Given the description of an element on the screen output the (x, y) to click on. 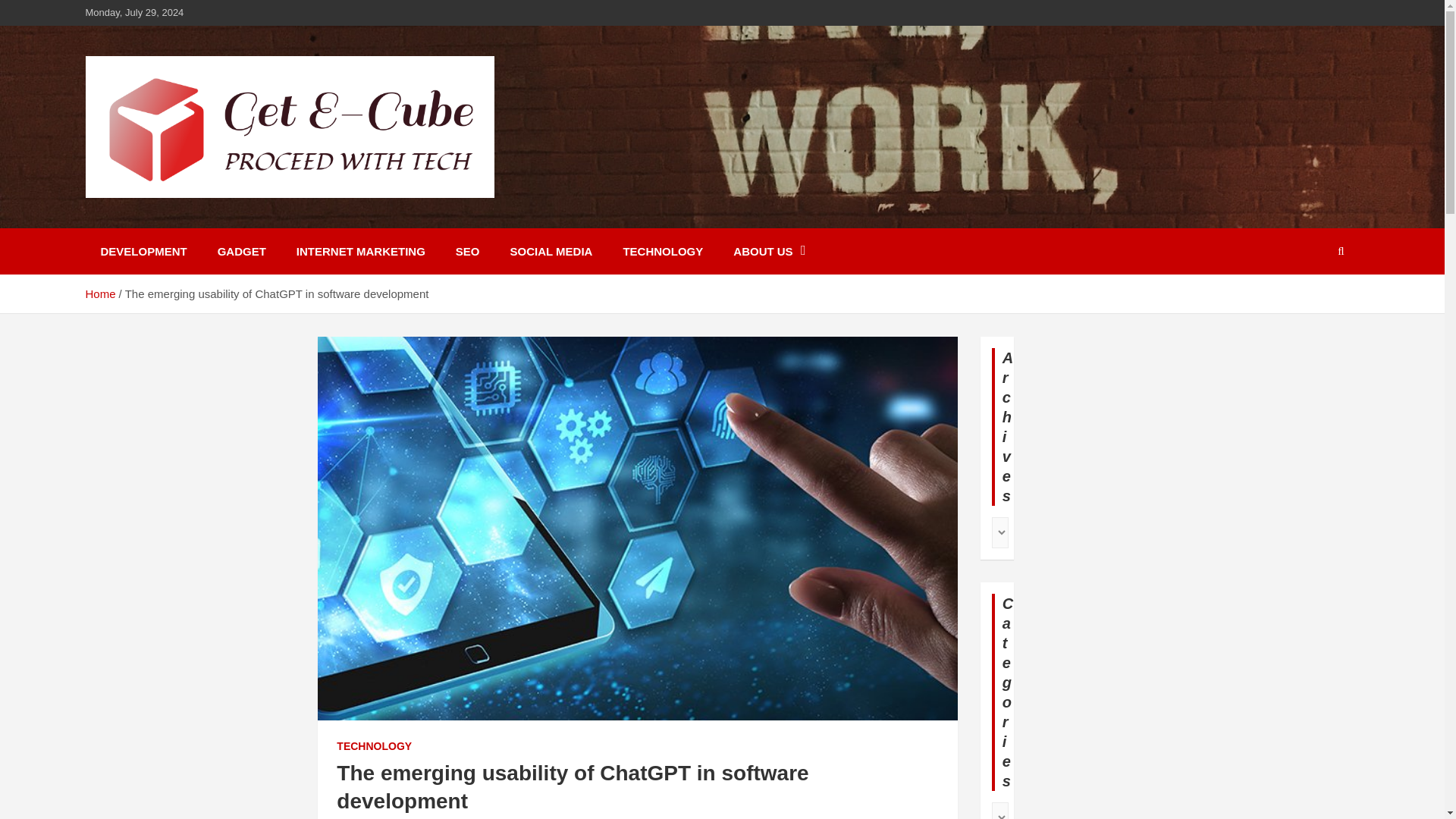
DEVELOPMENT (143, 251)
INTERNET MARKETING (361, 251)
SEO (468, 251)
ABOUT US (769, 251)
Get E-Cube (167, 217)
TECHNOLOGY (662, 251)
TECHNOLOGY (374, 746)
Home (99, 293)
SOCIAL MEDIA (551, 251)
GADGET (241, 251)
